Given the description of an element on the screen output the (x, y) to click on. 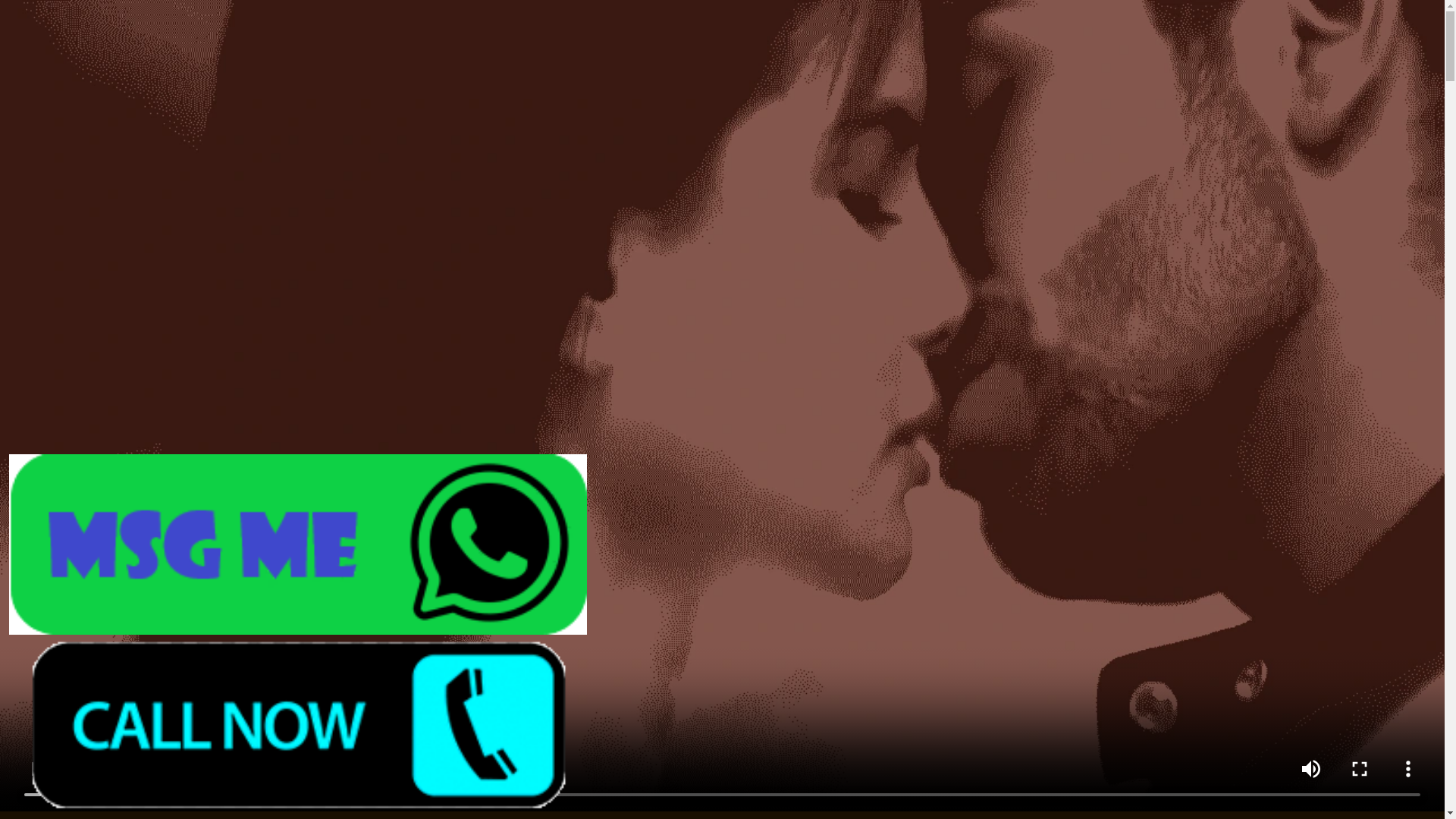
whatsapp book Surat escorts  Element type: hover (297, 724)
